Given the description of an element on the screen output the (x, y) to click on. 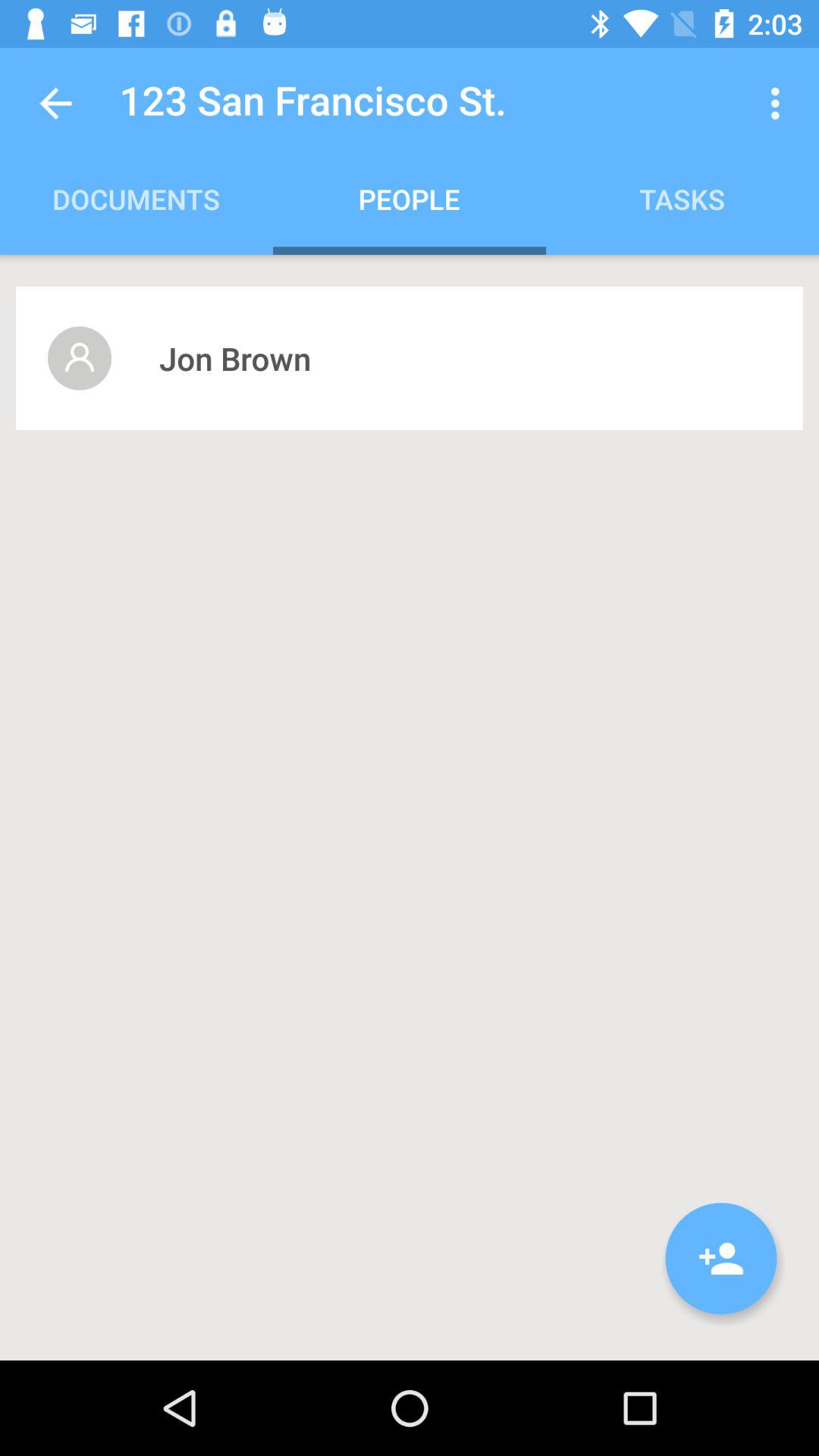
choose app next to 123 san francisco app (779, 103)
